Given the description of an element on the screen output the (x, y) to click on. 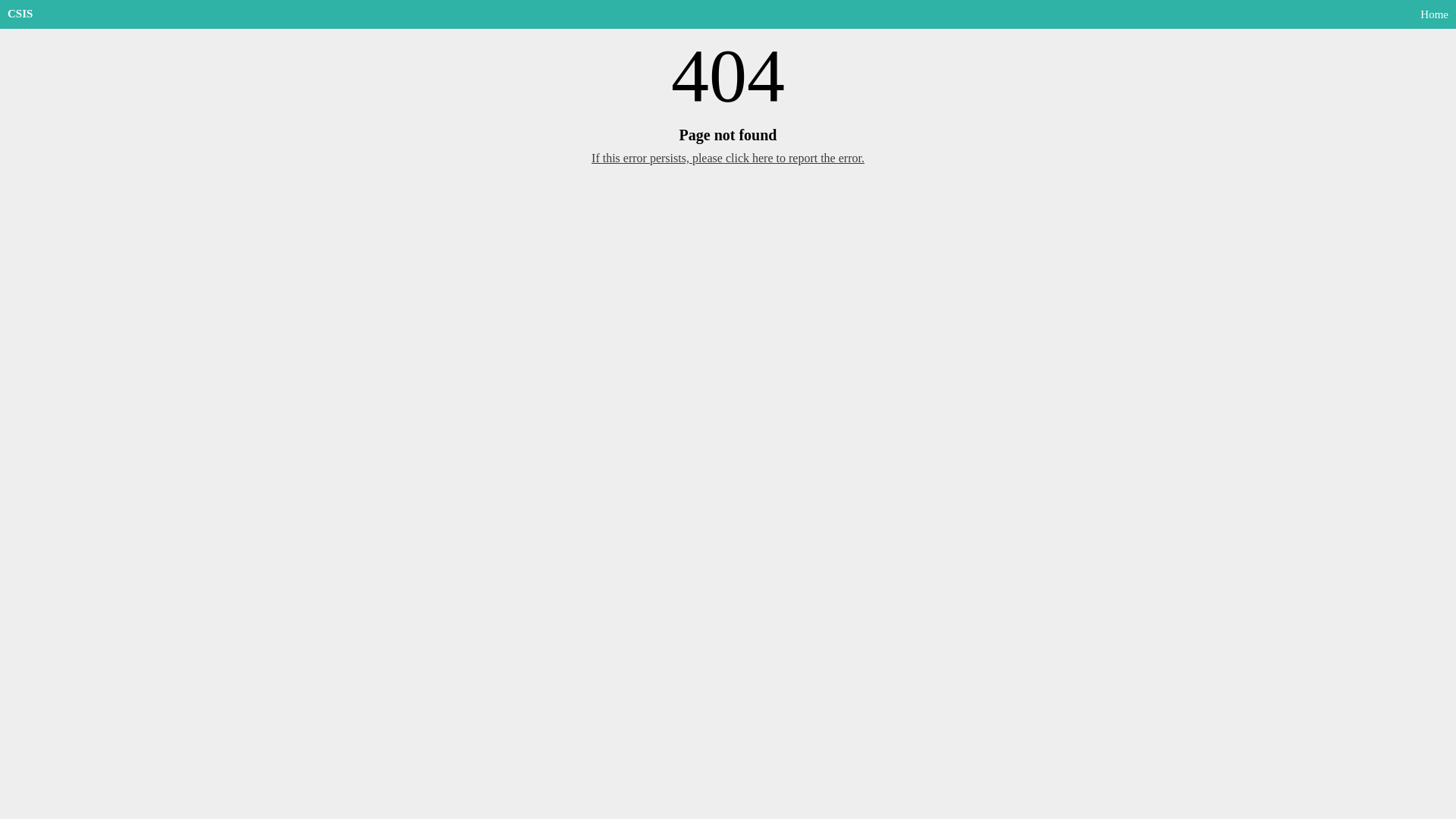
CSIS Element type: text (19, 13)
  Home Element type: text (1431, 13)
